Given the description of an element on the screen output the (x, y) to click on. 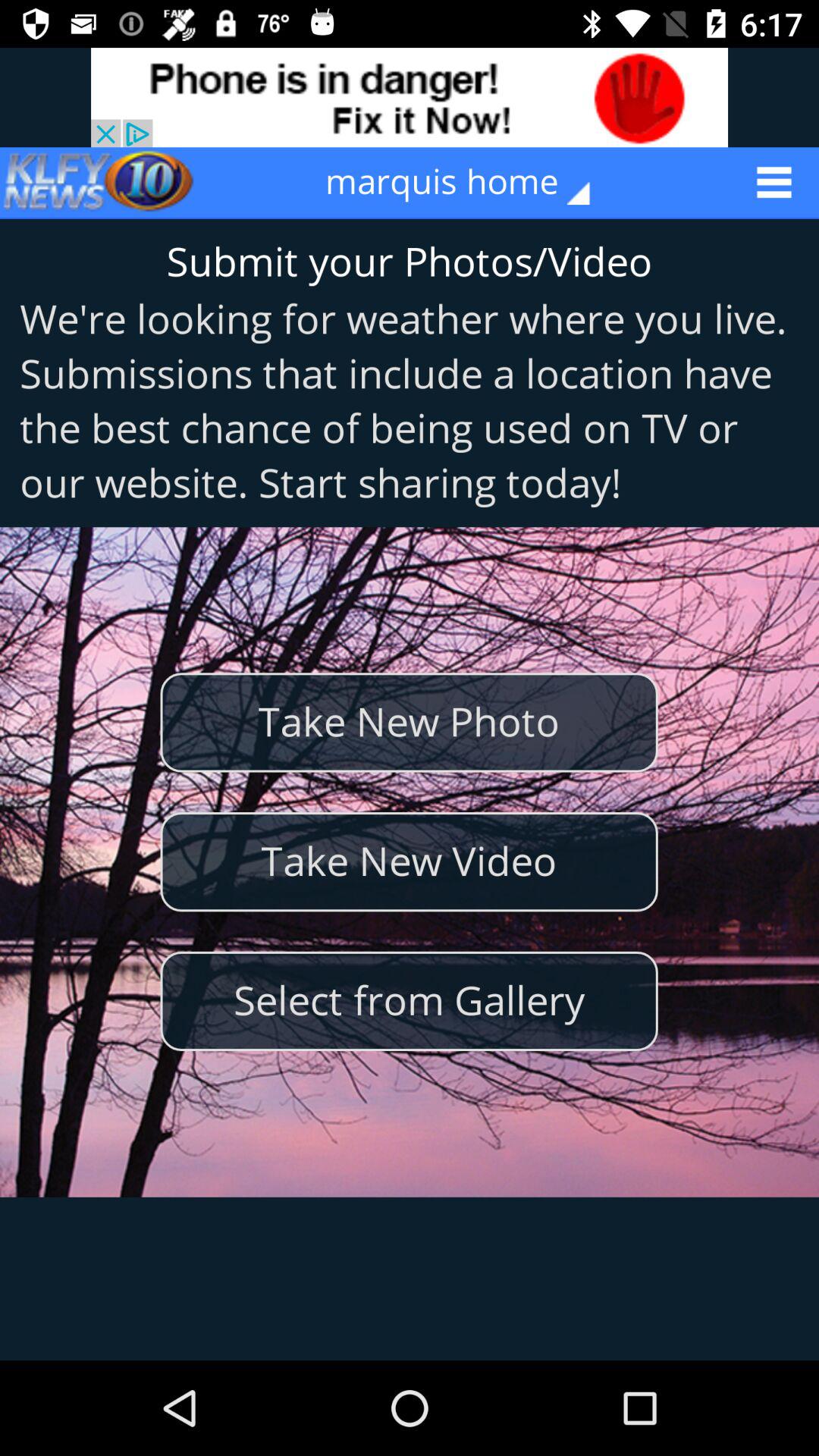
choose the icon to the left of the marquis home (99, 182)
